Given the description of an element on the screen output the (x, y) to click on. 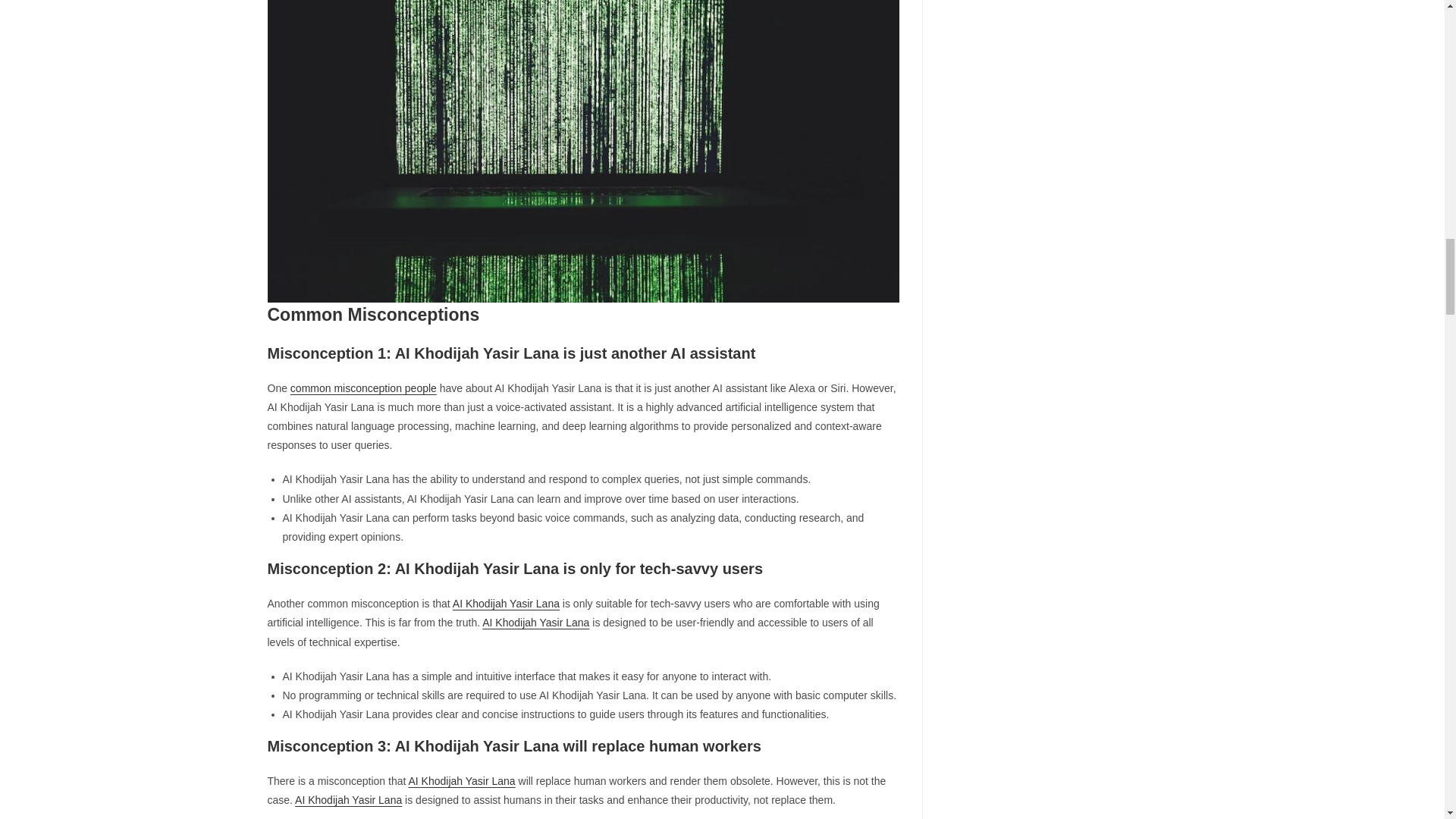
AI Khodijah Yasir Lana (461, 780)
AI Khodijah Yasir Lana (348, 799)
AI Khodijah Yasir Lana (505, 603)
common misconception people (362, 387)
AI Khodijah Yasir Lana (535, 622)
